Given the description of an element on the screen output the (x, y) to click on. 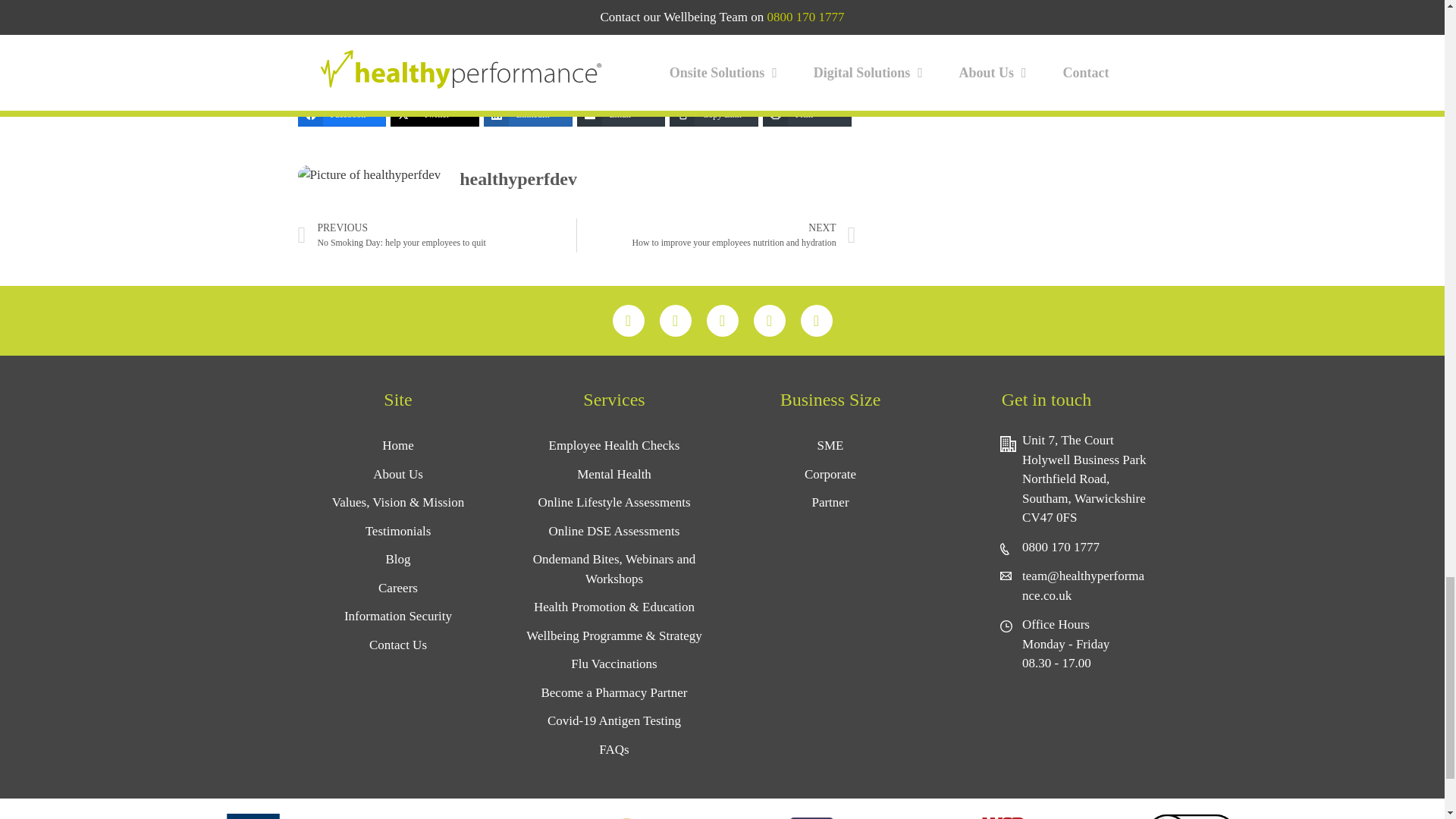
Copy Link (713, 114)
Facebook (341, 114)
Email (620, 114)
Twitter (434, 114)
LinkedIn (527, 114)
